Given the description of an element on the screen output the (x, y) to click on. 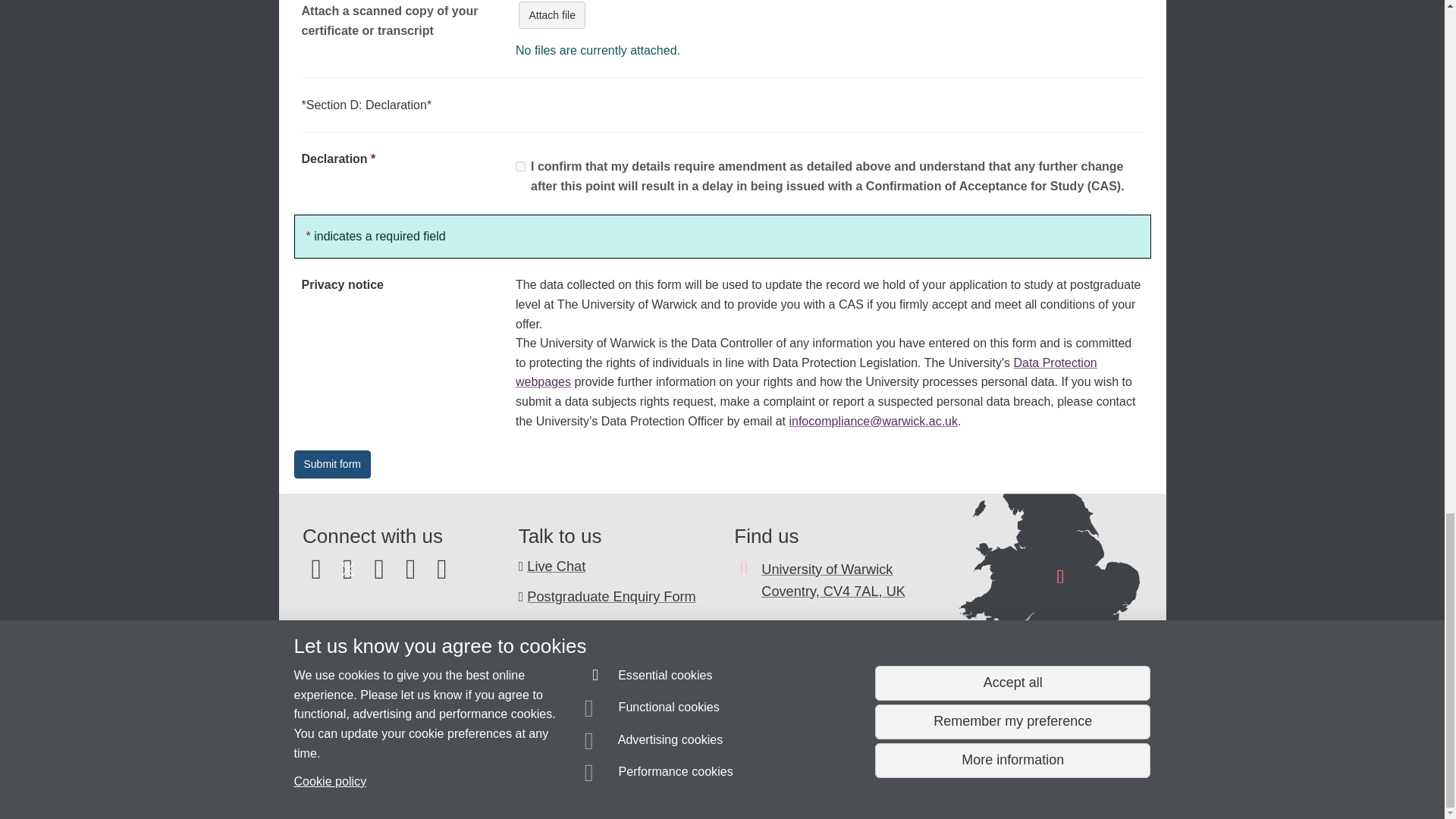
Privacy notice (673, 780)
Submit form (332, 463)
More information about SiteBuilder (365, 780)
Copyright Statement (514, 780)
Terms of use (708, 780)
Send an email to webeditor (371, 751)
Information about cookies (467, 780)
